Given the description of an element on the screen output the (x, y) to click on. 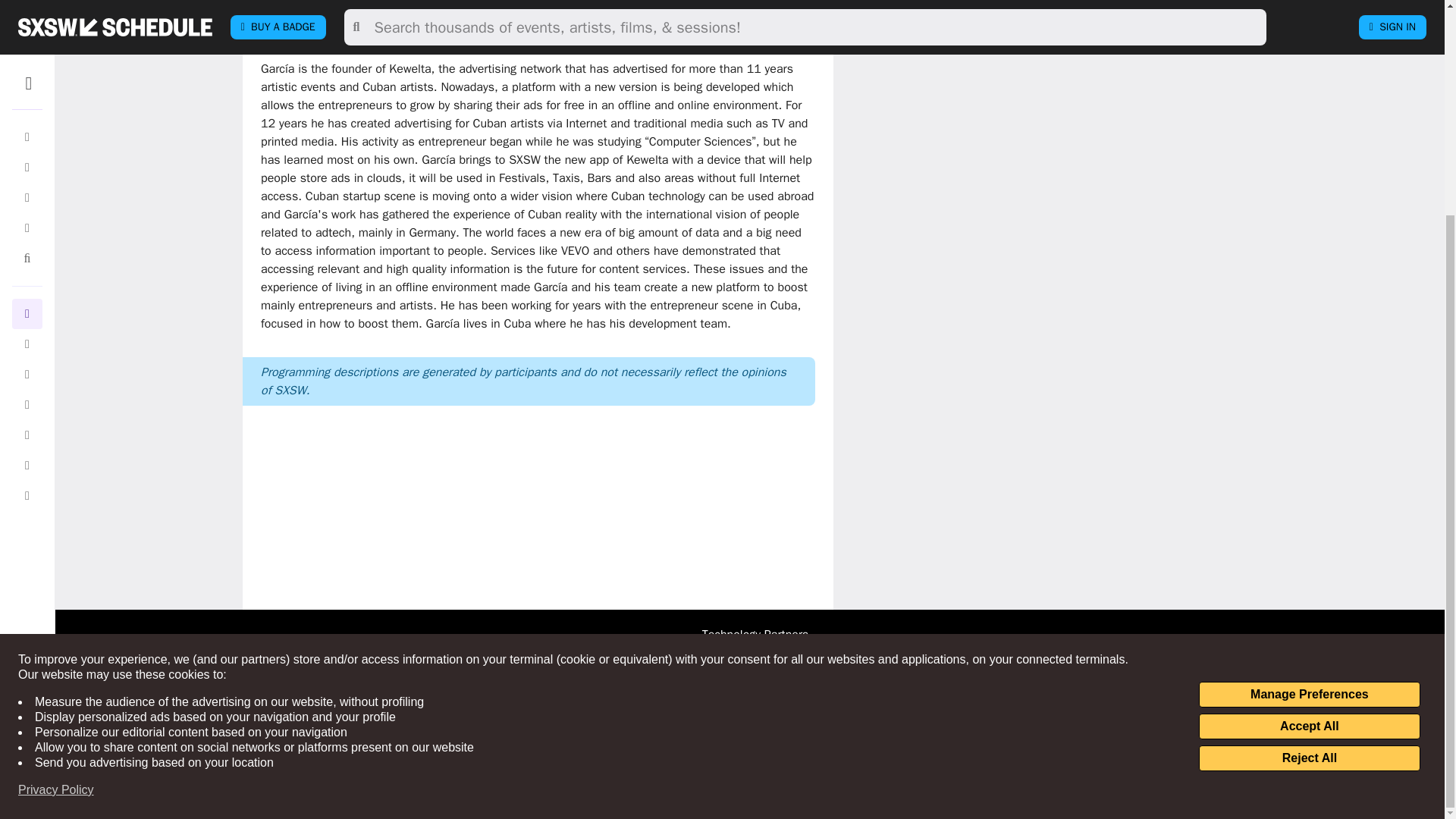
Reject All (1309, 475)
Privacy Policy (55, 507)
Accept All (1309, 444)
Manage Preferences (1309, 412)
